Given the description of an element on the screen output the (x, y) to click on. 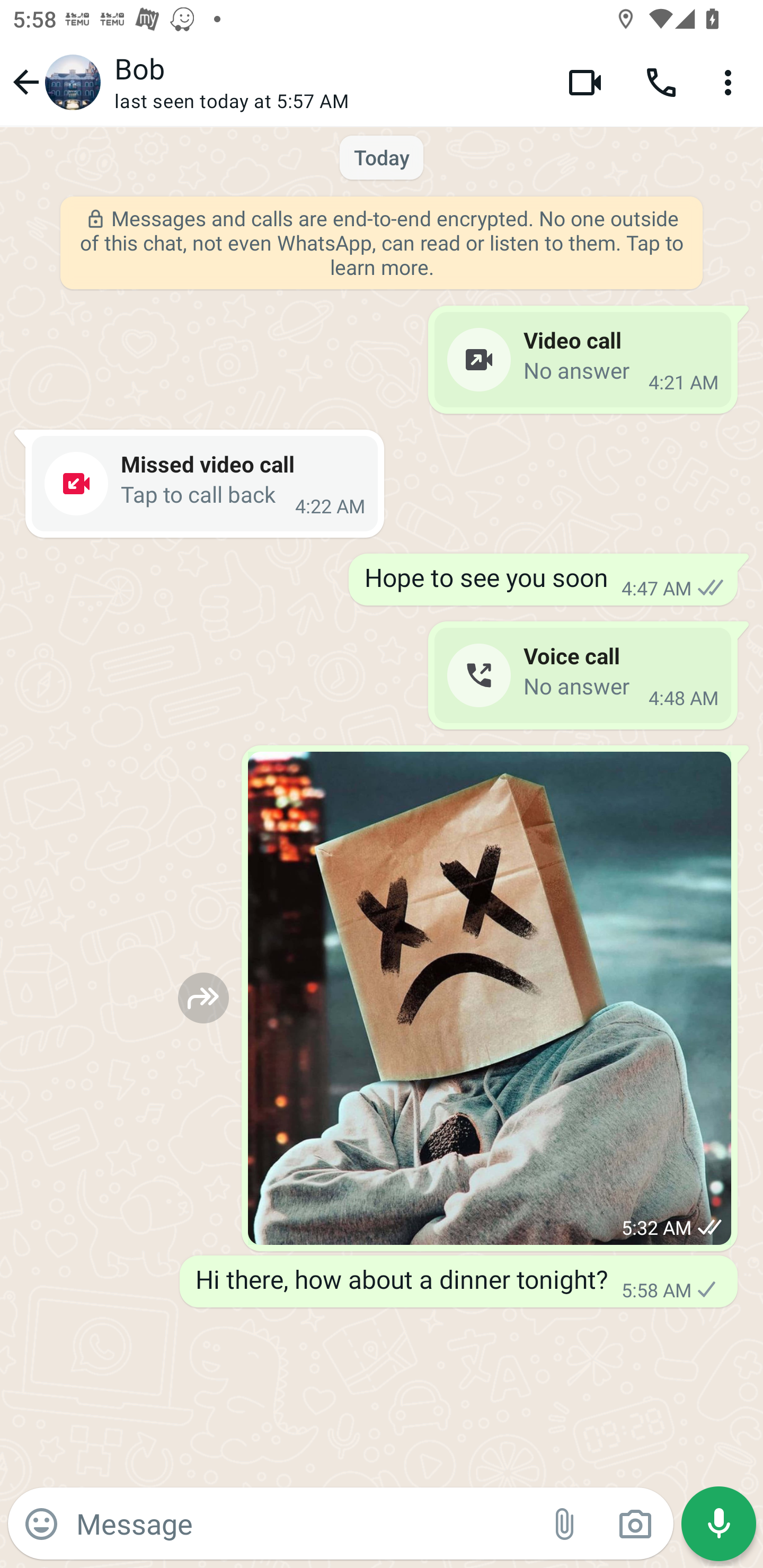
Bob last seen today at 5:57 AM (327, 82)
Navigate up (54, 82)
Video call (585, 81)
Voice call (661, 81)
More options (731, 81)
View photo (488, 997)
Forward to… (202, 997)
Emoji (41, 1523)
Attach (565, 1523)
Camera (634, 1523)
Message (303, 1523)
